Given the description of an element on the screen output the (x, y) to click on. 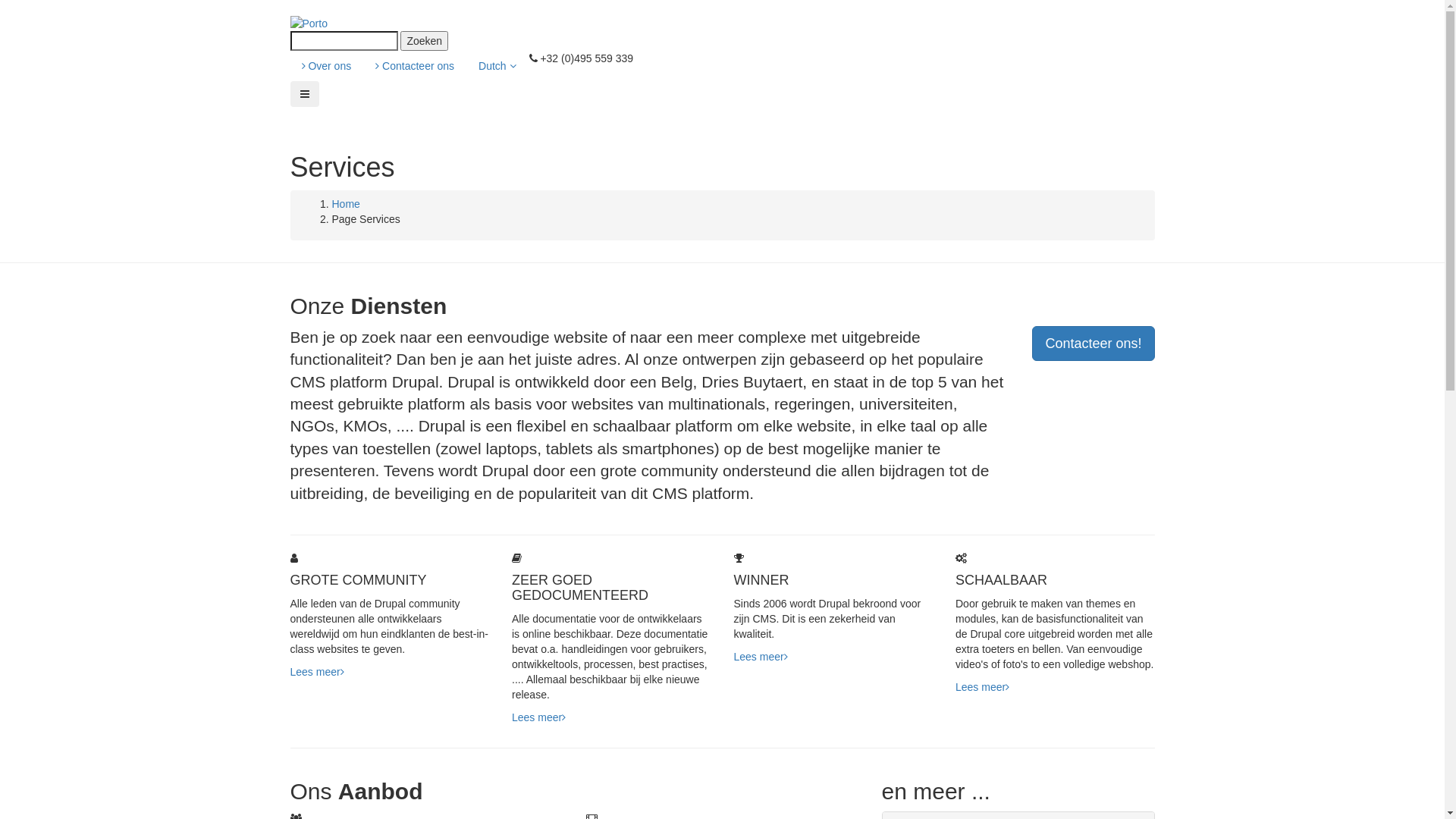
Over ons Element type: text (325, 65)
Geef de woorden op waarnaar u wilt zoeken. Element type: hover (343, 40)
Zoeken Element type: text (424, 40)
Lees meer Element type: text (760, 656)
Lees meer Element type: text (538, 717)
Dutch Element type: text (497, 65)
Contacteer ons! Element type: text (1093, 343)
Lees meer Element type: text (982, 686)
Overslaan en naar de inhoud gaan Element type: text (0, 15)
Lees meer Element type: text (316, 671)
Home Element type: text (346, 203)
Contacteer ons Element type: text (414, 65)
